Given the description of an element on the screen output the (x, y) to click on. 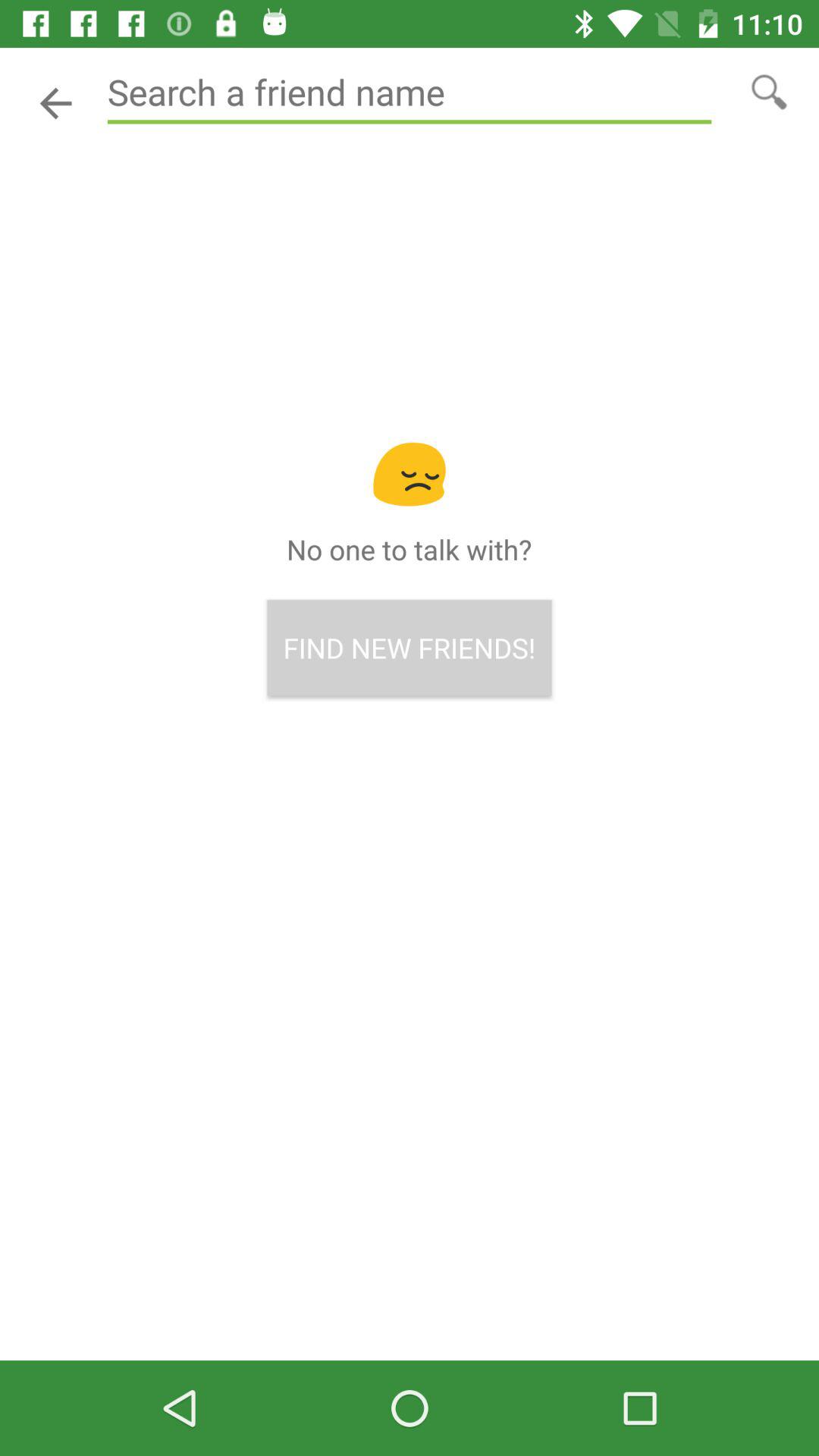
last page (55, 103)
